Given the description of an element on the screen output the (x, y) to click on. 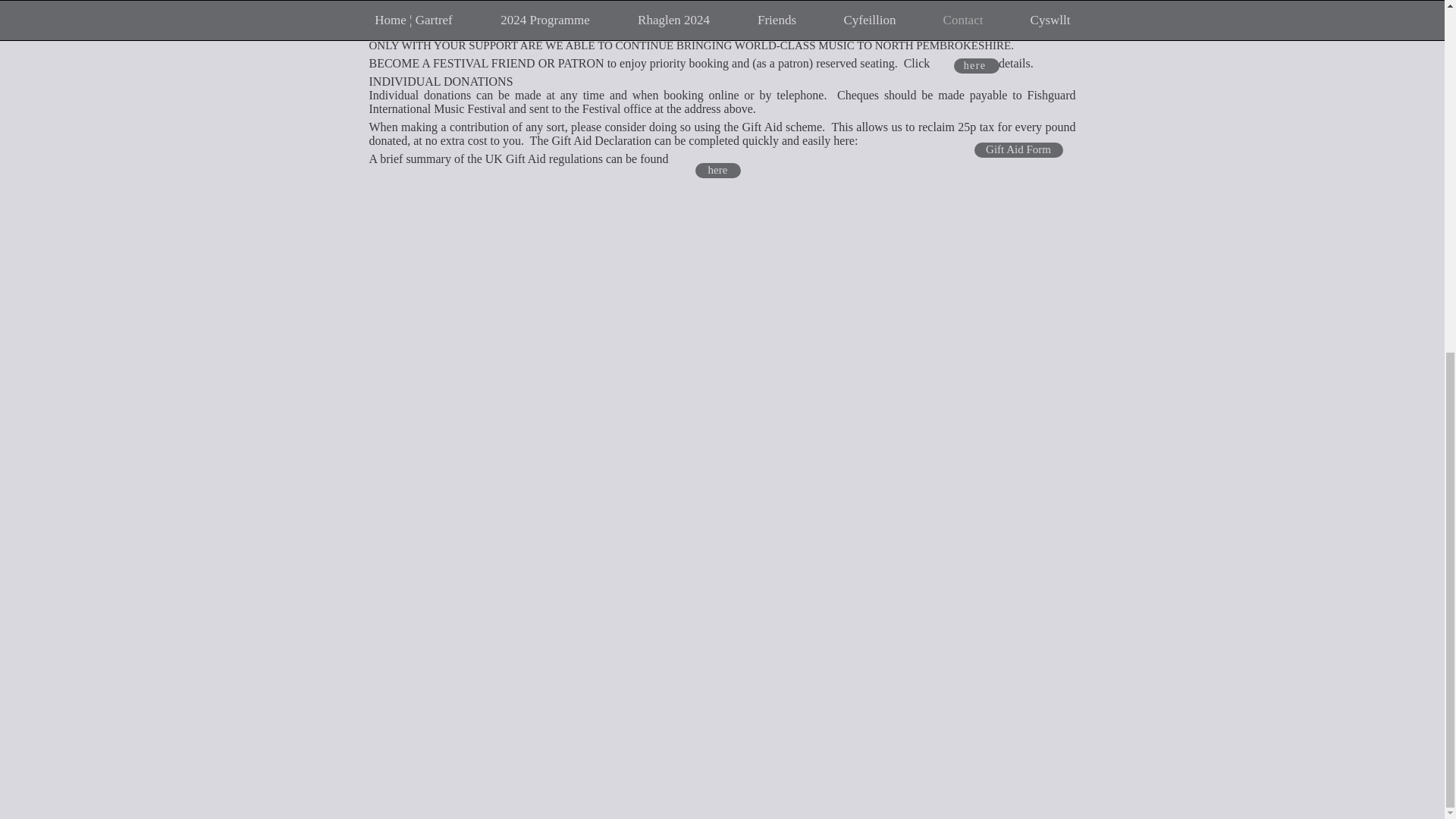
here (975, 65)
here (716, 170)
Gift Aid Form (1018, 150)
